Given the description of an element on the screen output the (x, y) to click on. 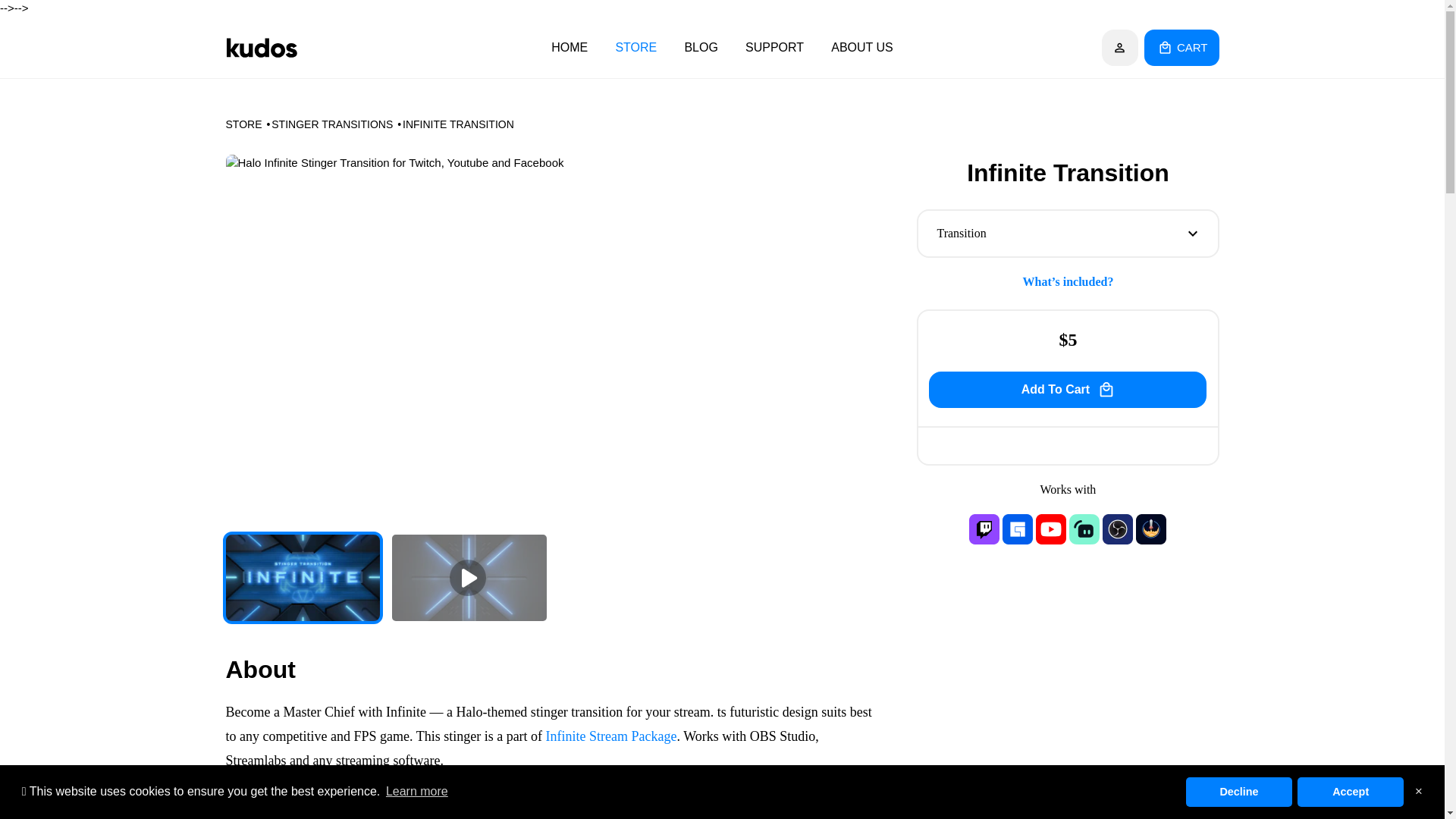
Decline (1239, 791)
SUPPORT (774, 46)
Accept (1350, 791)
Learn more (416, 791)
